Given the description of an element on the screen output the (x, y) to click on. 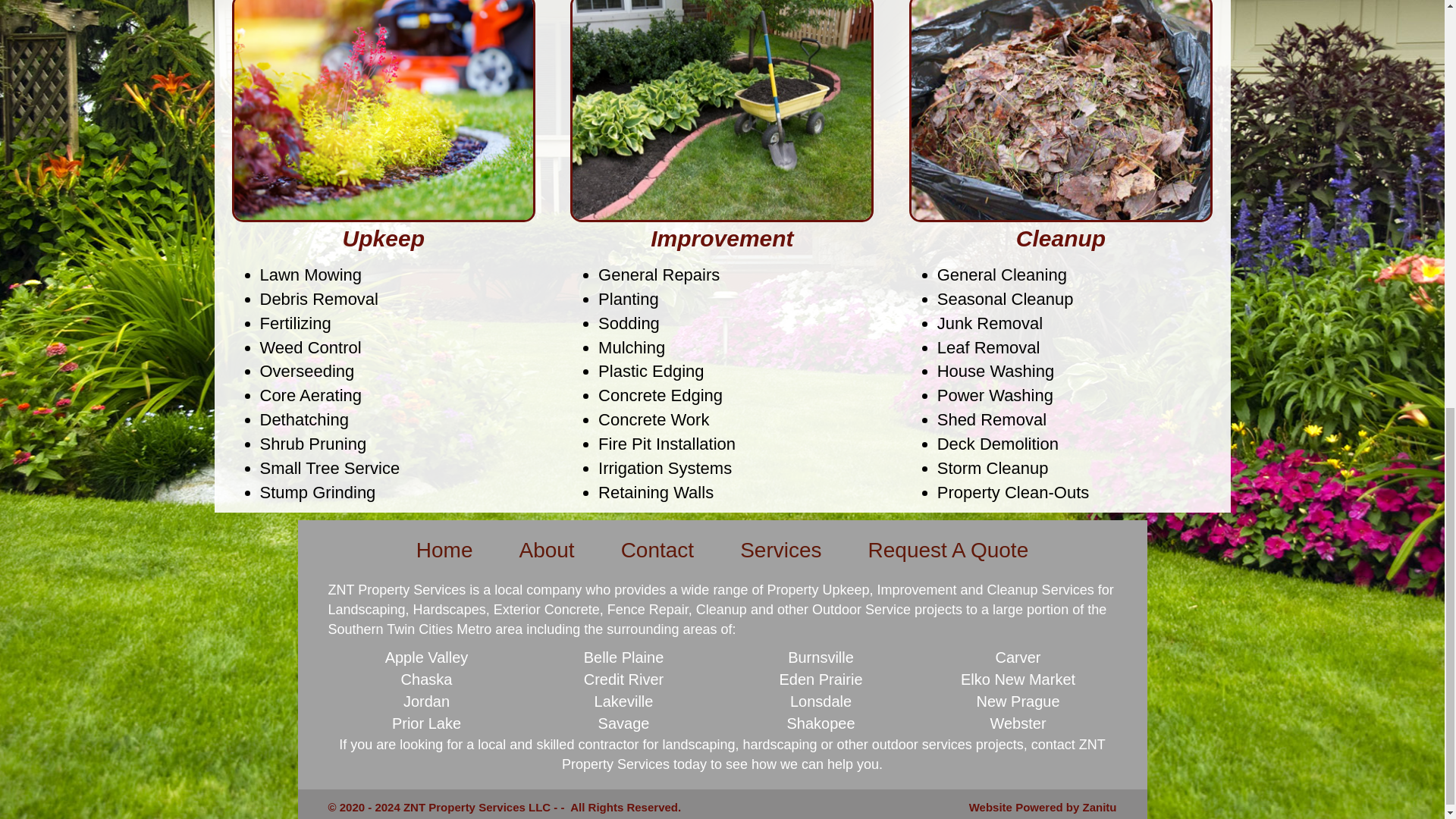
Dethatching (303, 419)
Upkeep (383, 238)
Shrub Pruning (312, 443)
Core Aerating (310, 394)
Fertilizing (294, 322)
Stump Grinding (317, 492)
Debris Removal (318, 298)
Lawn Mowing (310, 274)
Small Tree Service (328, 467)
Weed Control (310, 347)
Overseeding (306, 370)
Improvement (721, 238)
